Given the description of an element on the screen output the (x, y) to click on. 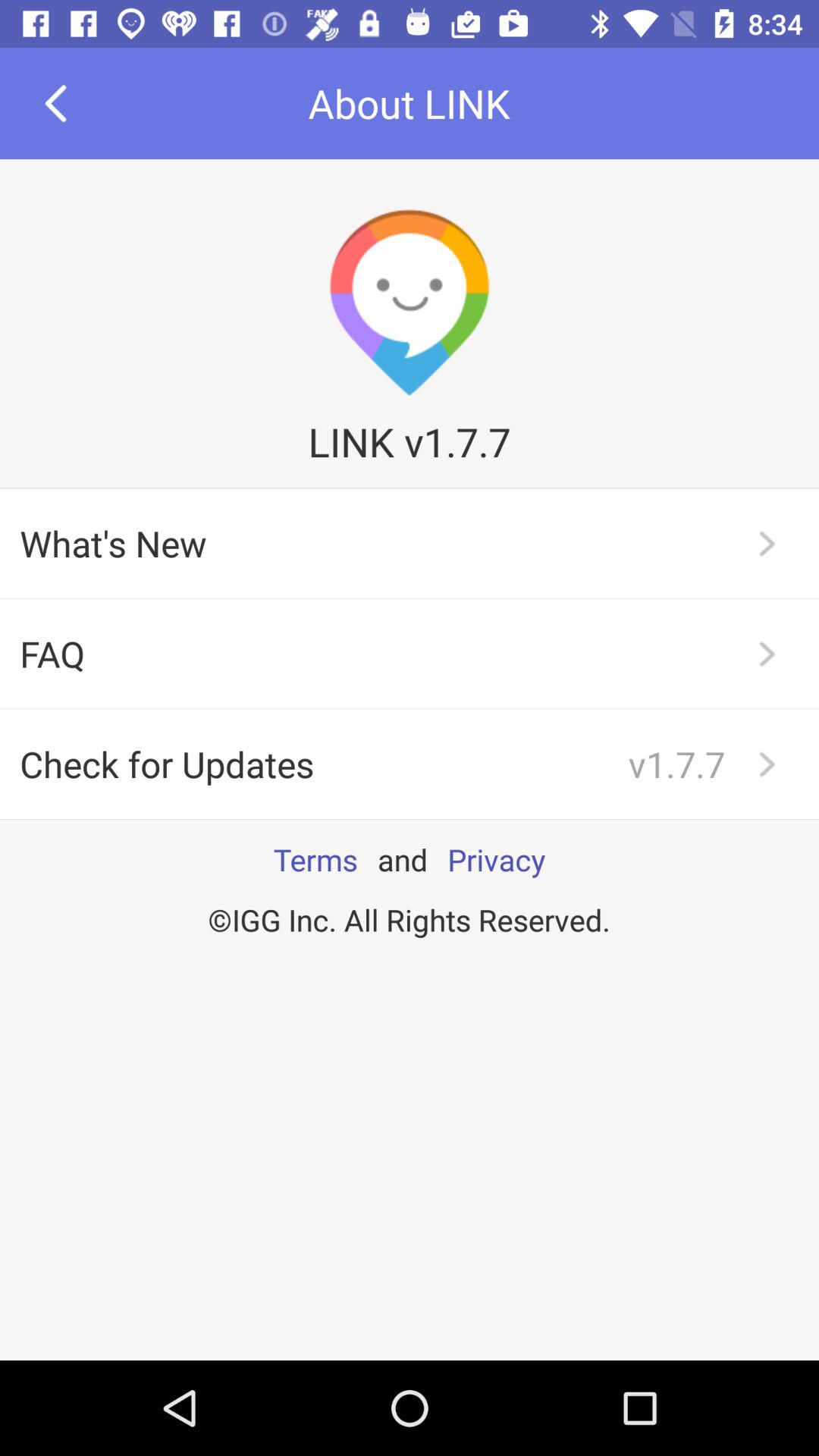
press the privacy icon (496, 859)
